Given the description of an element on the screen output the (x, y) to click on. 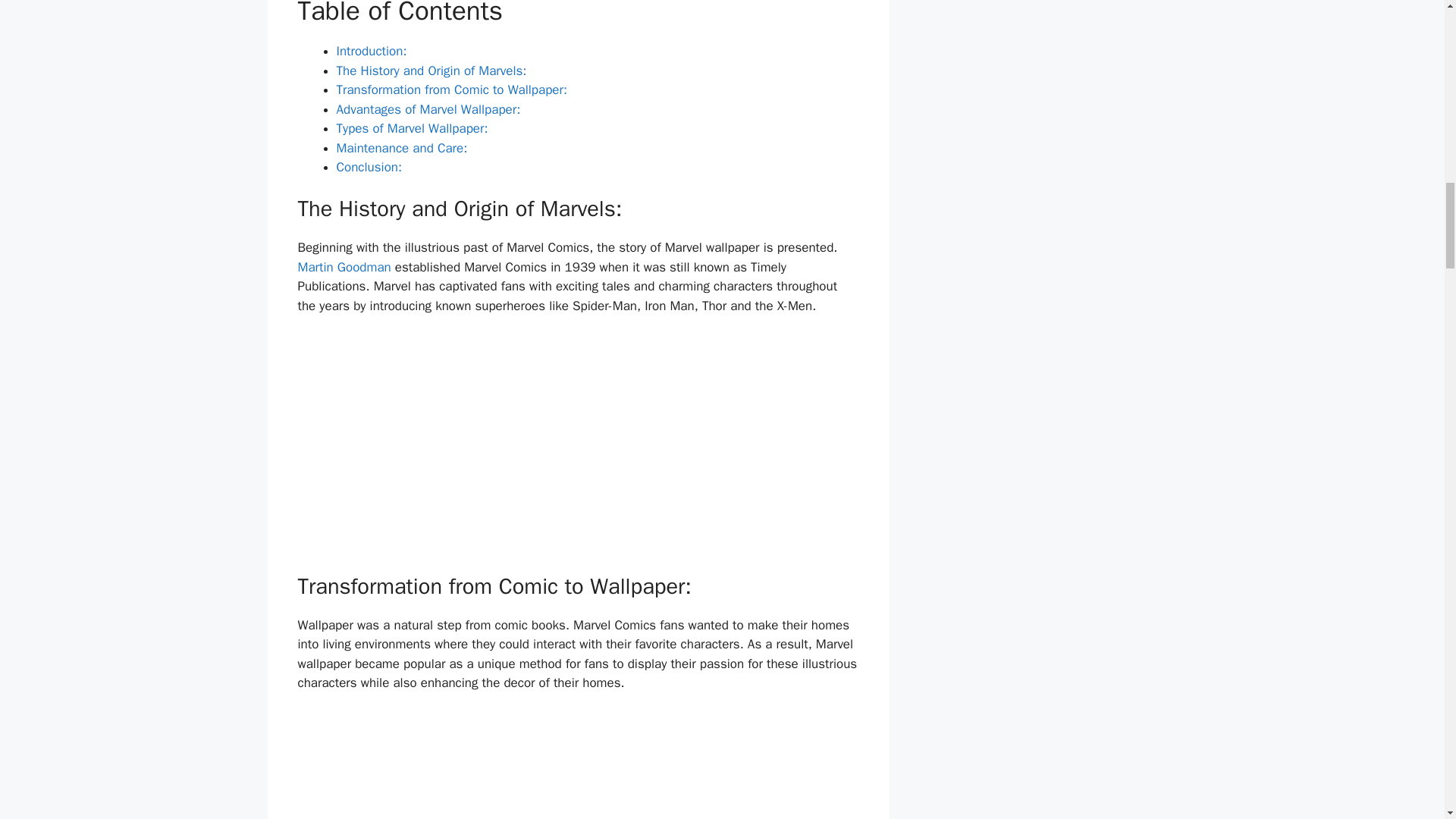
Advertisement (581, 765)
Introduction: (371, 50)
Transformation from Comic to Wallpaper: (451, 89)
Martin Goodman (343, 267)
The History and Origin of Marvels: (431, 70)
Advantages of Marvel Wallpaper: (428, 109)
Conclusion: (369, 166)
Maintenance and Care: (401, 148)
Advertisement (581, 448)
Types of Marvel Wallpaper: (411, 128)
